Given the description of an element on the screen output the (x, y) to click on. 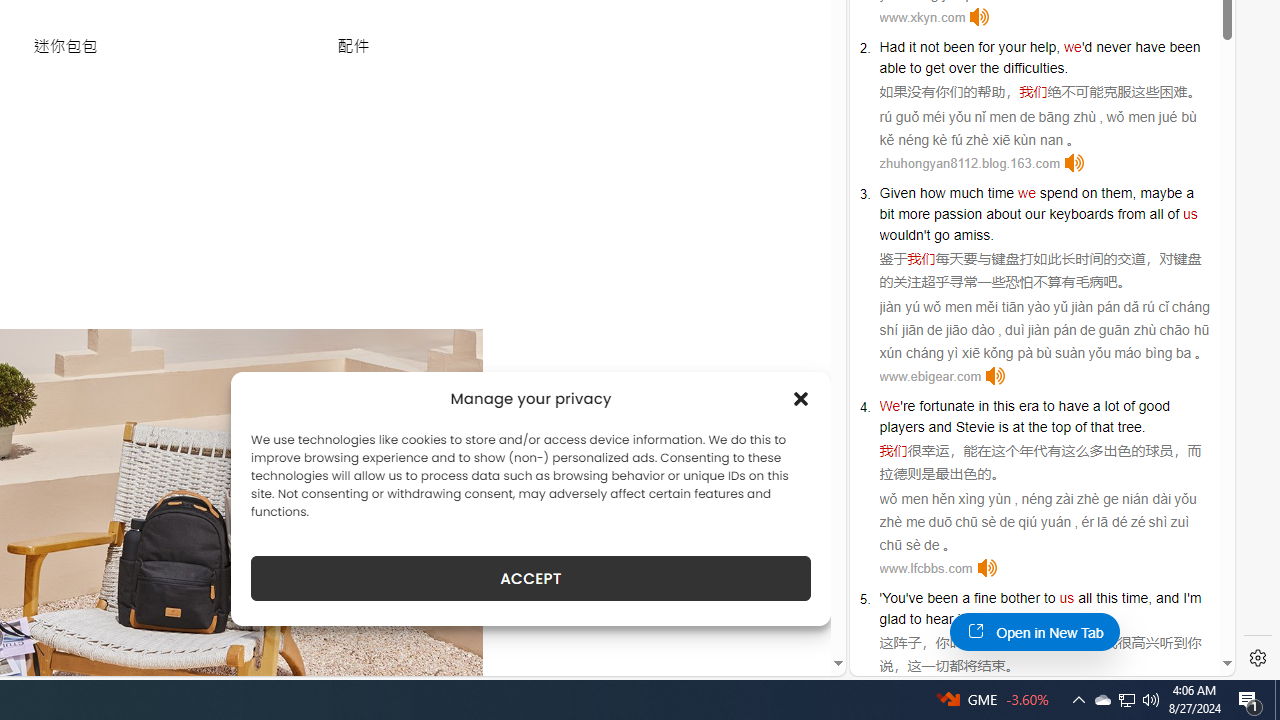
www.xkyn.com (922, 17)
and (940, 426)
We (890, 405)
fortunate (947, 405)
about (1003, 213)
